Given the description of an element on the screen output the (x, y) to click on. 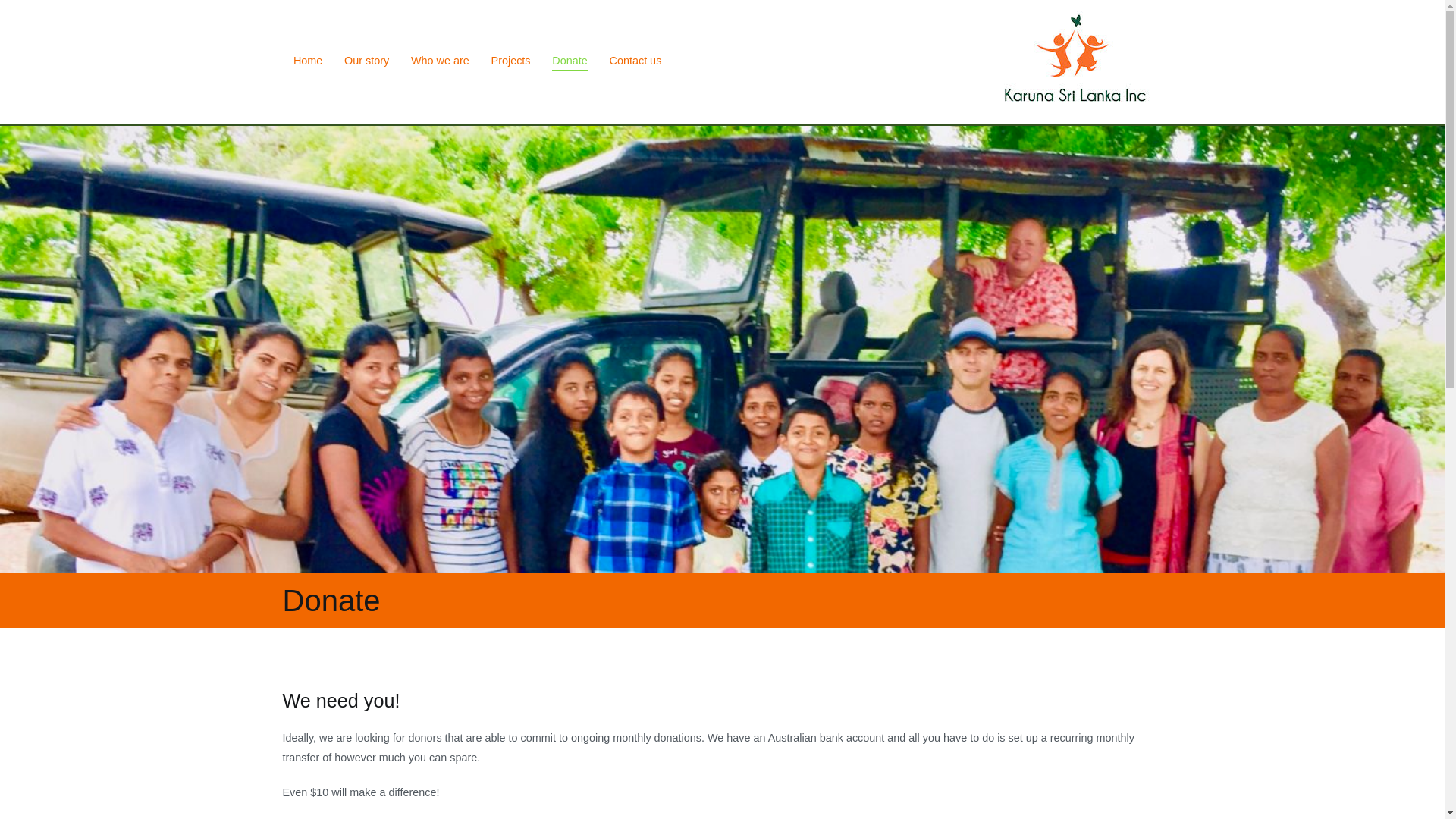
Our story Element type: text (366, 61)
Projects Element type: text (510, 61)
Home Element type: text (307, 61)
Donate Element type: text (569, 61)
Who we are Element type: text (440, 61)
Contact us Element type: text (635, 61)
